Given the description of an element on the screen output the (x, y) to click on. 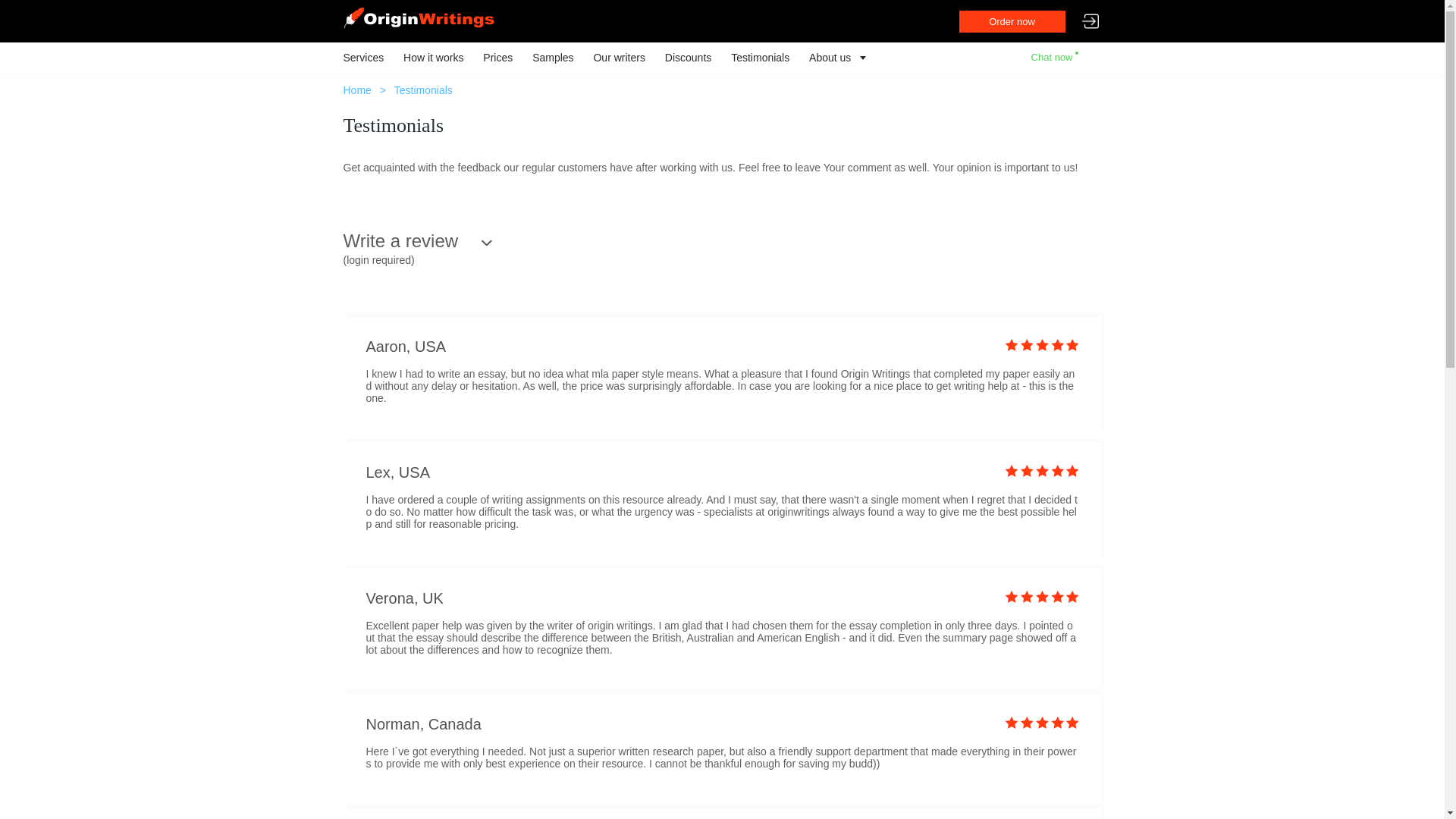
Prices (497, 57)
Services (363, 57)
About us (829, 57)
Order now (1011, 21)
Home (356, 90)
Testimonials (759, 57)
Samples (552, 57)
How it works (433, 57)
Write a review (417, 241)
Chat now (1054, 57)
Discounts (688, 57)
Our writers (618, 57)
